Given the description of an element on the screen output the (x, y) to click on. 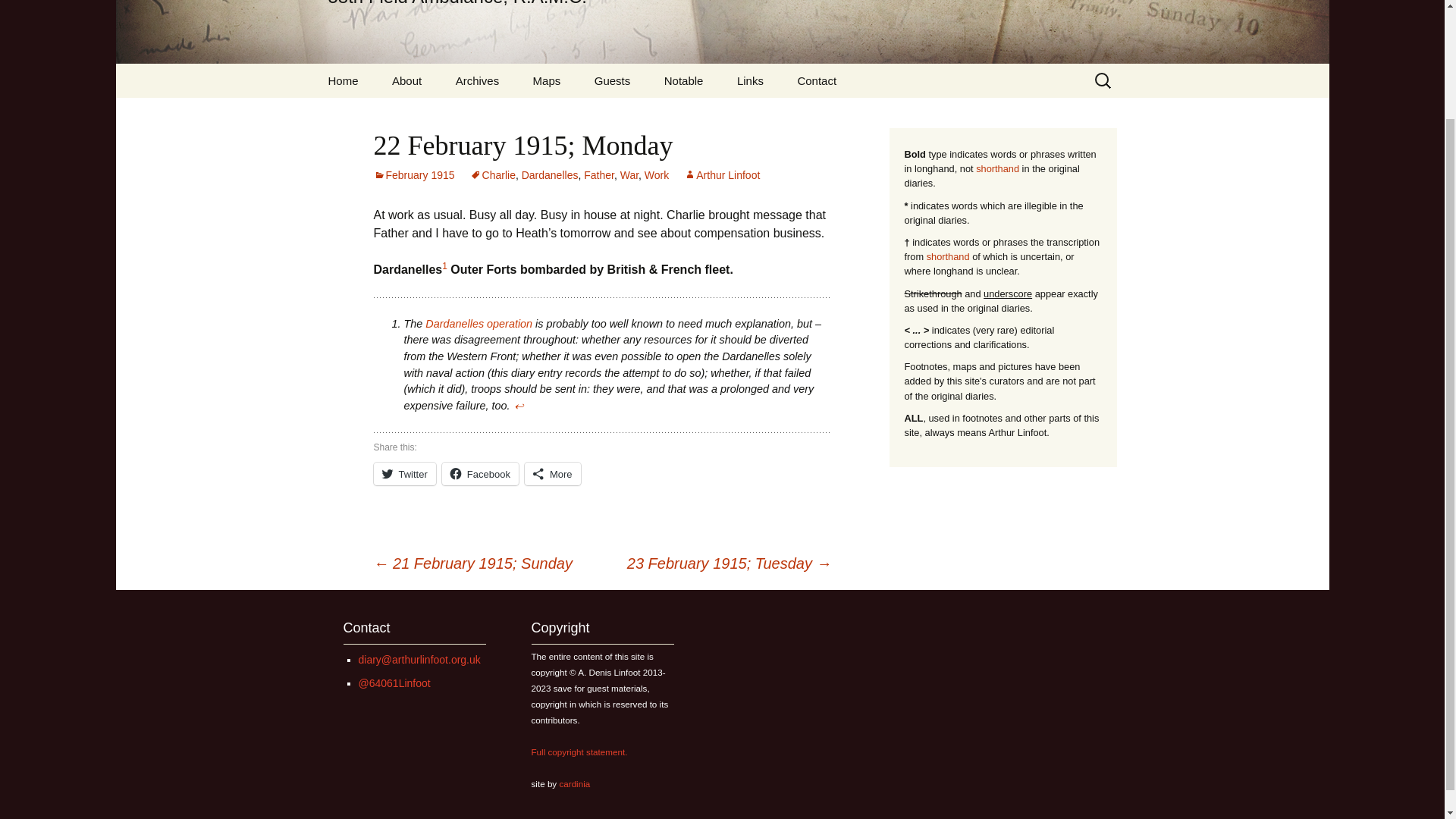
Wikipedia: Naval operations in the Dardanelles Campaign (478, 323)
View all posts by Arthur Linfoot (722, 174)
1914 (516, 114)
Notable Diary Entries (684, 80)
Twitter (393, 683)
Home (342, 80)
About (406, 80)
Click to share on Facebook (480, 473)
Archives (478, 80)
